Given the description of an element on the screen output the (x, y) to click on. 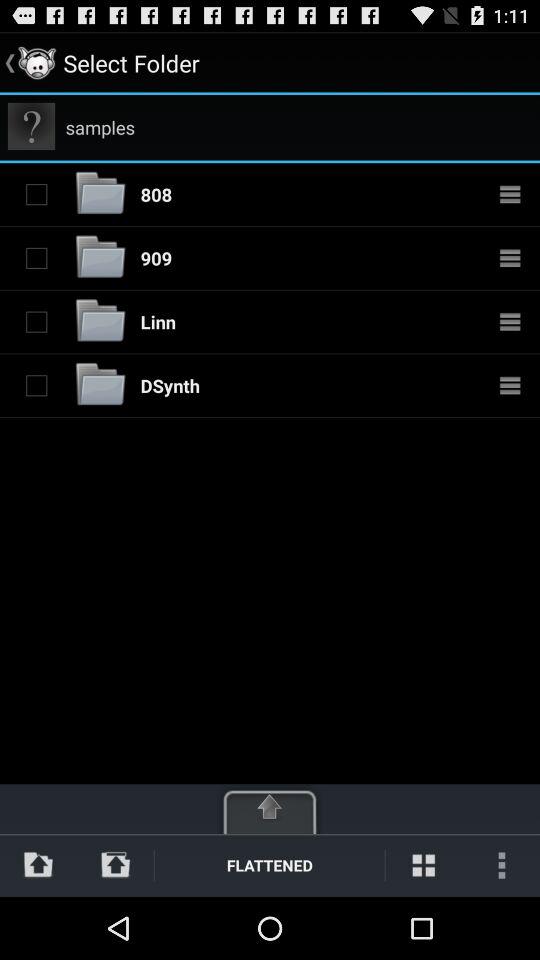
open the icon above the linn (156, 257)
